Given the description of an element on the screen output the (x, y) to click on. 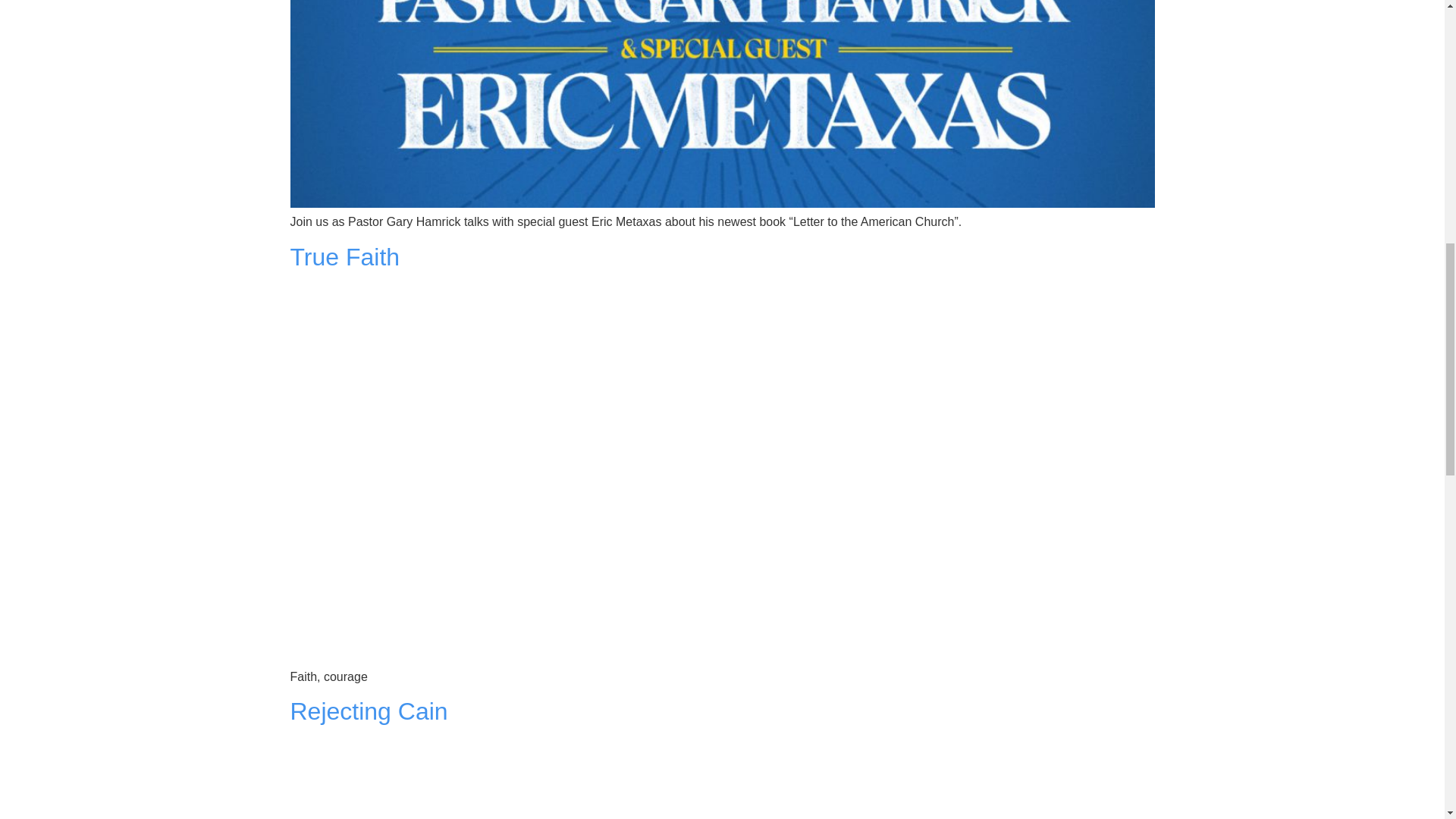
True Faith (343, 257)
Rejecting Cain (367, 710)
